Given the description of an element on the screen output the (x, y) to click on. 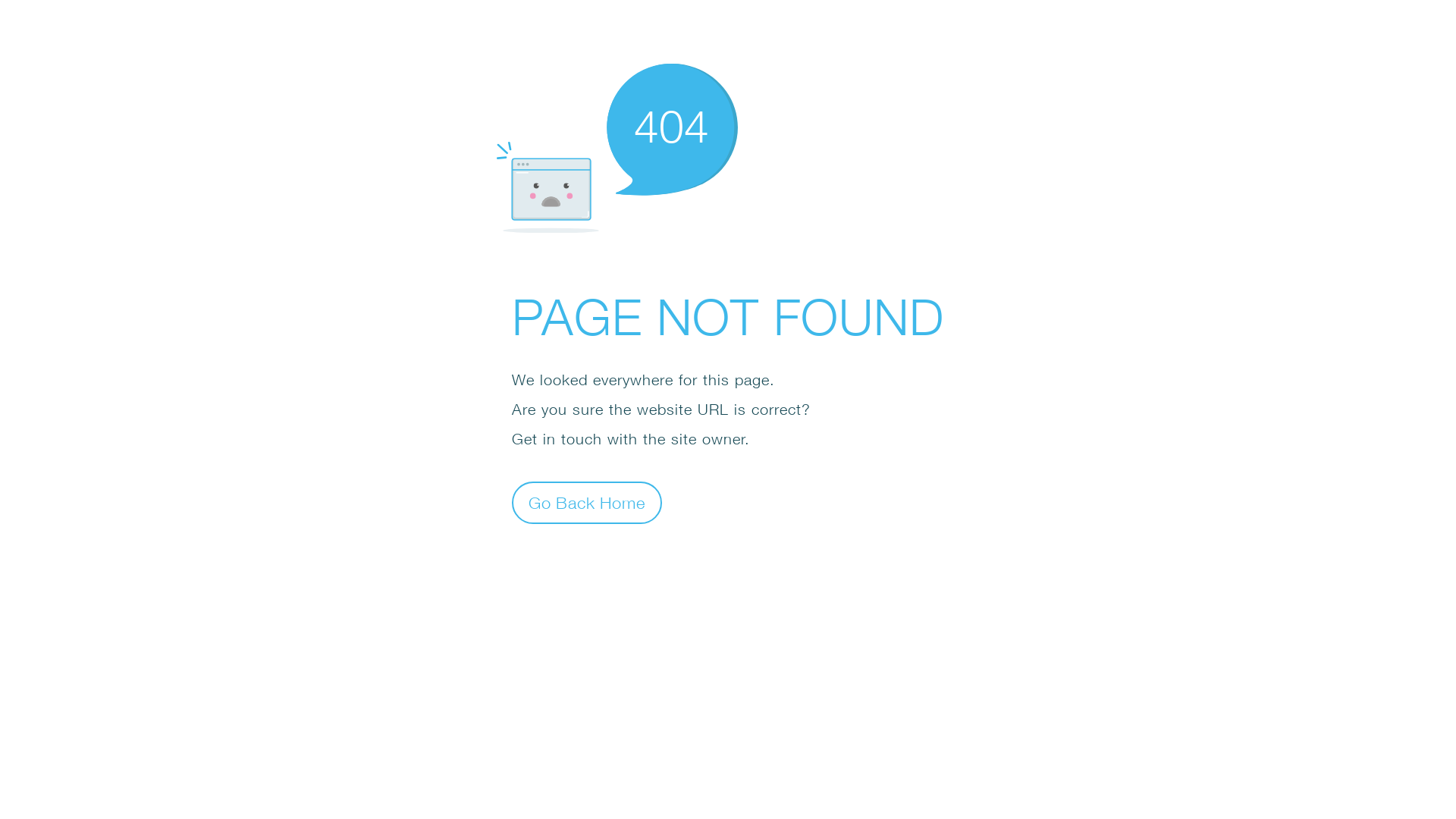
Go Back Home Element type: text (586, 502)
